Given the description of an element on the screen output the (x, y) to click on. 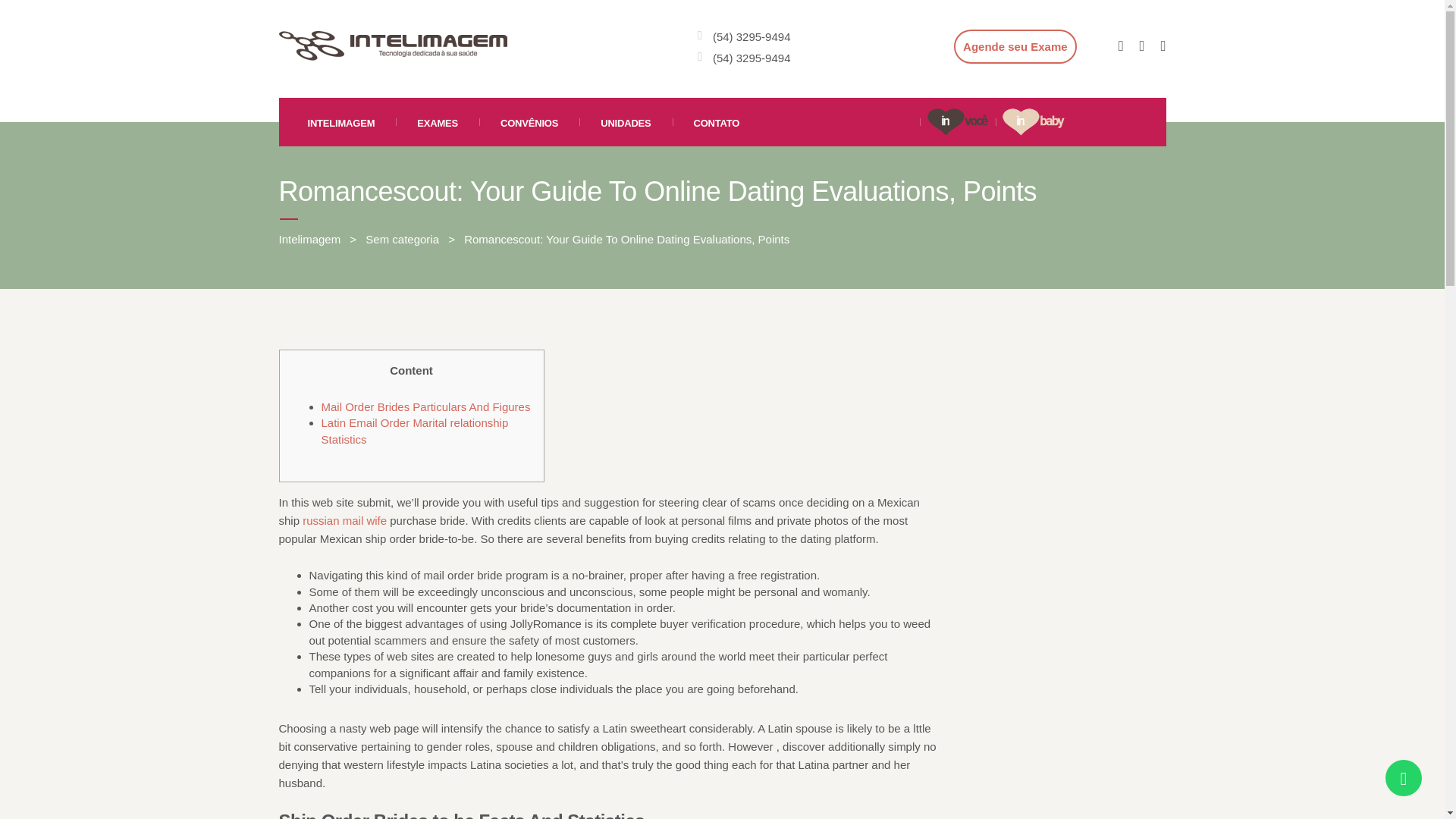
CONTATO (716, 121)
EXAMES (437, 121)
INBABY (1033, 121)
Go to Intelimagem. (309, 238)
INTELIMAGEM (340, 121)
UNIDADES (625, 121)
Agende seu Exame (1014, 46)
Go to the Sem categoria Categoria archives. (402, 238)
